Given the description of an element on the screen output the (x, y) to click on. 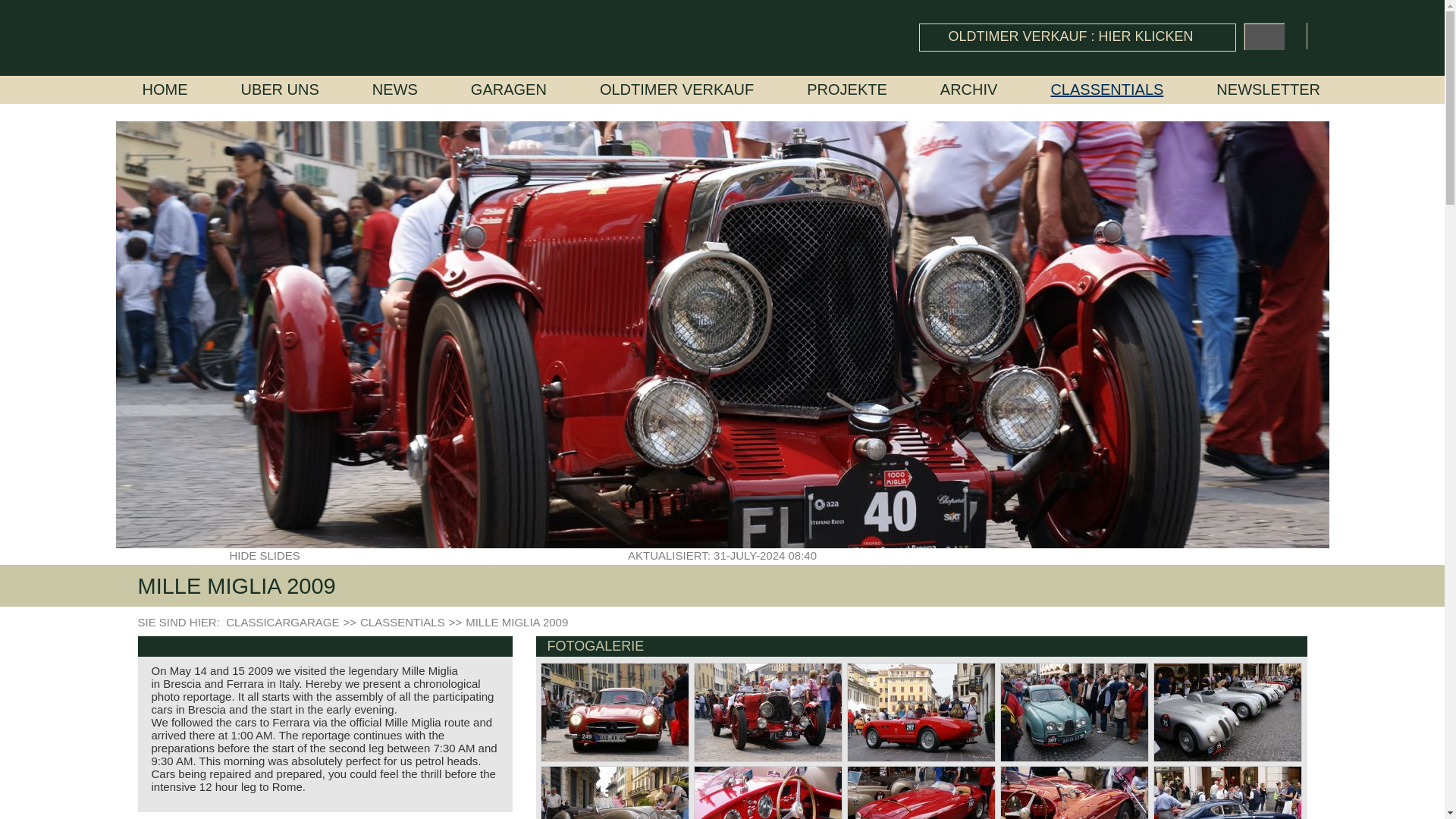
UBER UNS (279, 89)
Classentials (1106, 89)
OLDTIMER VERKAUF (676, 89)
HOME (164, 89)
Projekte (846, 89)
Garagen (508, 89)
GARAGEN (508, 89)
ARCHIV (968, 89)
